Given the description of an element on the screen output the (x, y) to click on. 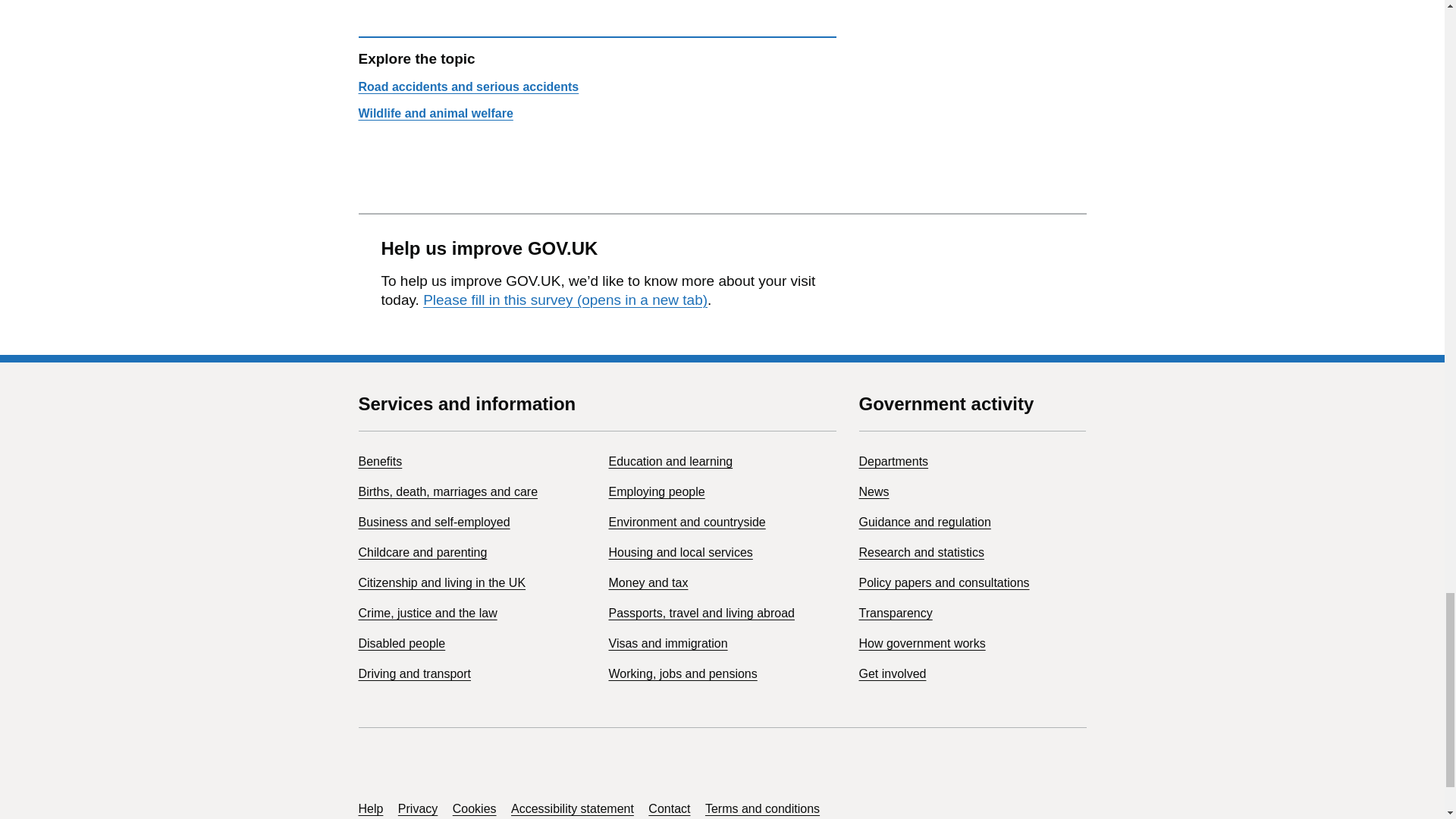
Driving and transport (414, 673)
Births, death, marriages and care (447, 491)
Environment and countryside (686, 521)
Education and learning (670, 461)
Passports, travel and living abroad (700, 612)
Money and tax (647, 582)
Benefits (379, 461)
Road accidents and serious accidents (468, 86)
Citizenship and living in the UK (441, 582)
Employing people (656, 491)
Disabled people (401, 643)
Visas and immigration (667, 643)
Business and self-employed (433, 521)
Childcare and parenting (422, 552)
Housing and local services (680, 552)
